Given the description of an element on the screen output the (x, y) to click on. 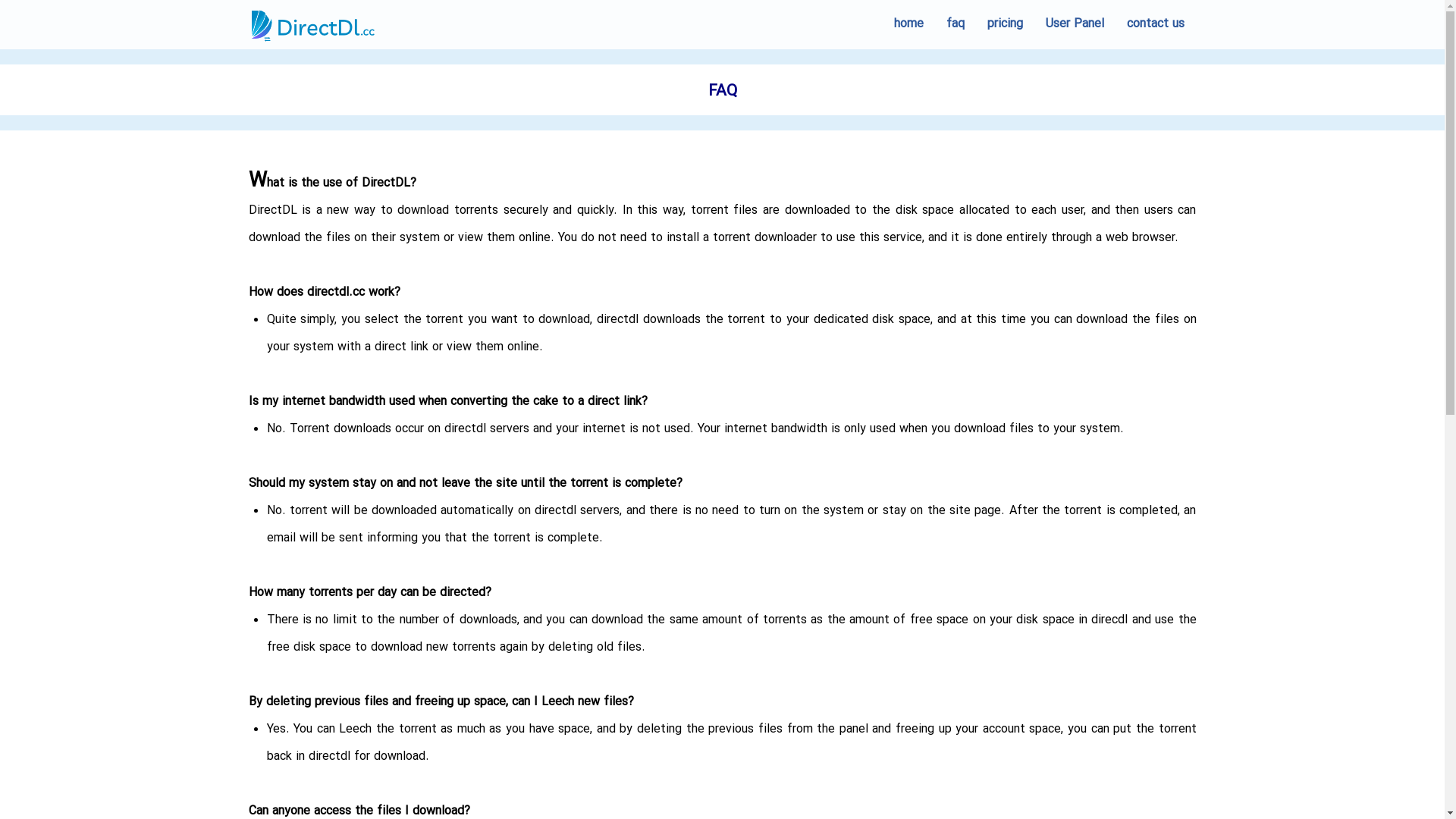
faq Element type: text (954, 23)
pricing Element type: text (1004, 23)
contact us Element type: text (1154, 23)
User Panel Element type: text (1074, 23)
home Element type: text (908, 23)
